Given the description of an element on the screen output the (x, y) to click on. 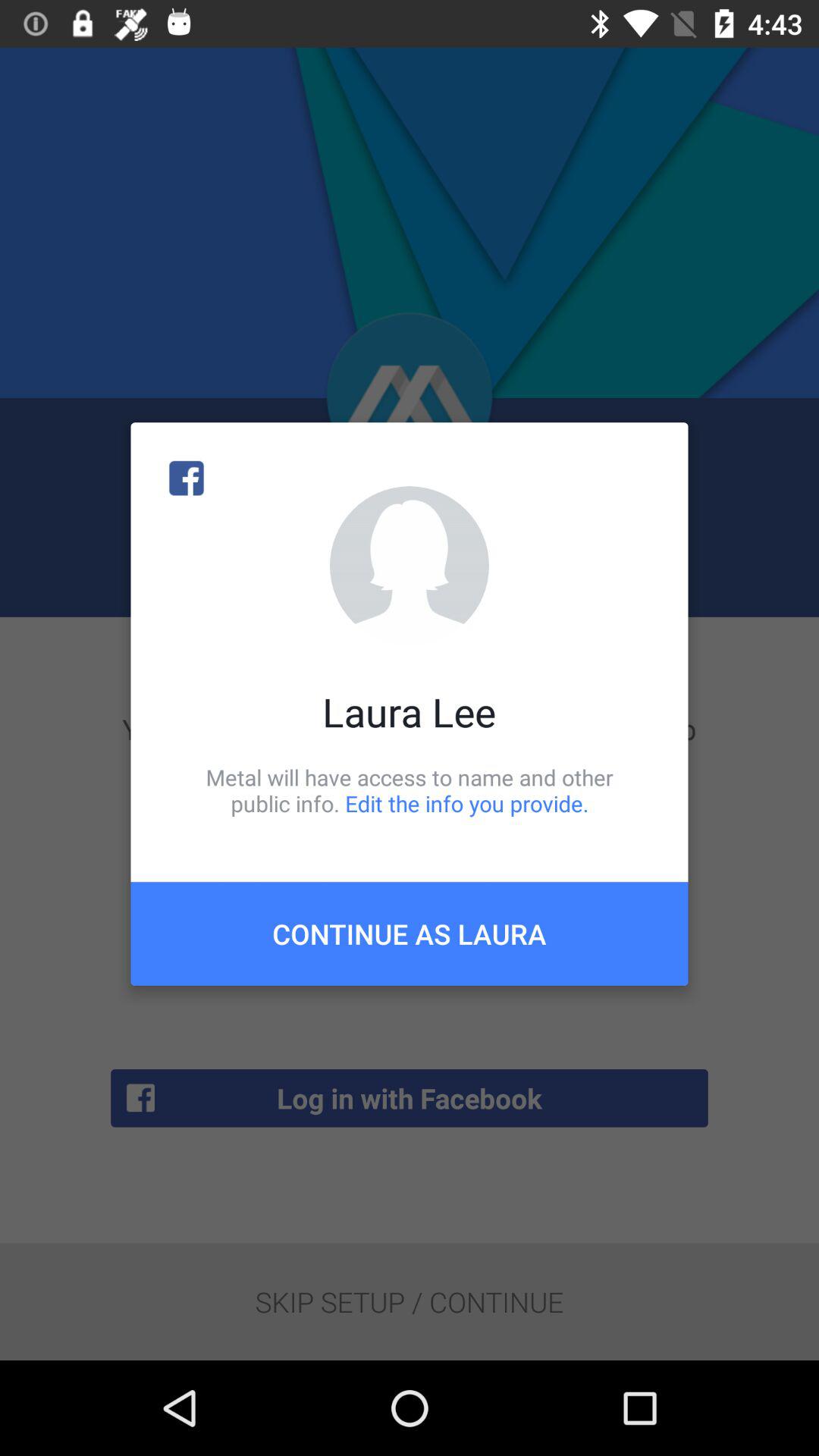
scroll until continue as laura item (409, 933)
